Given the description of an element on the screen output the (x, y) to click on. 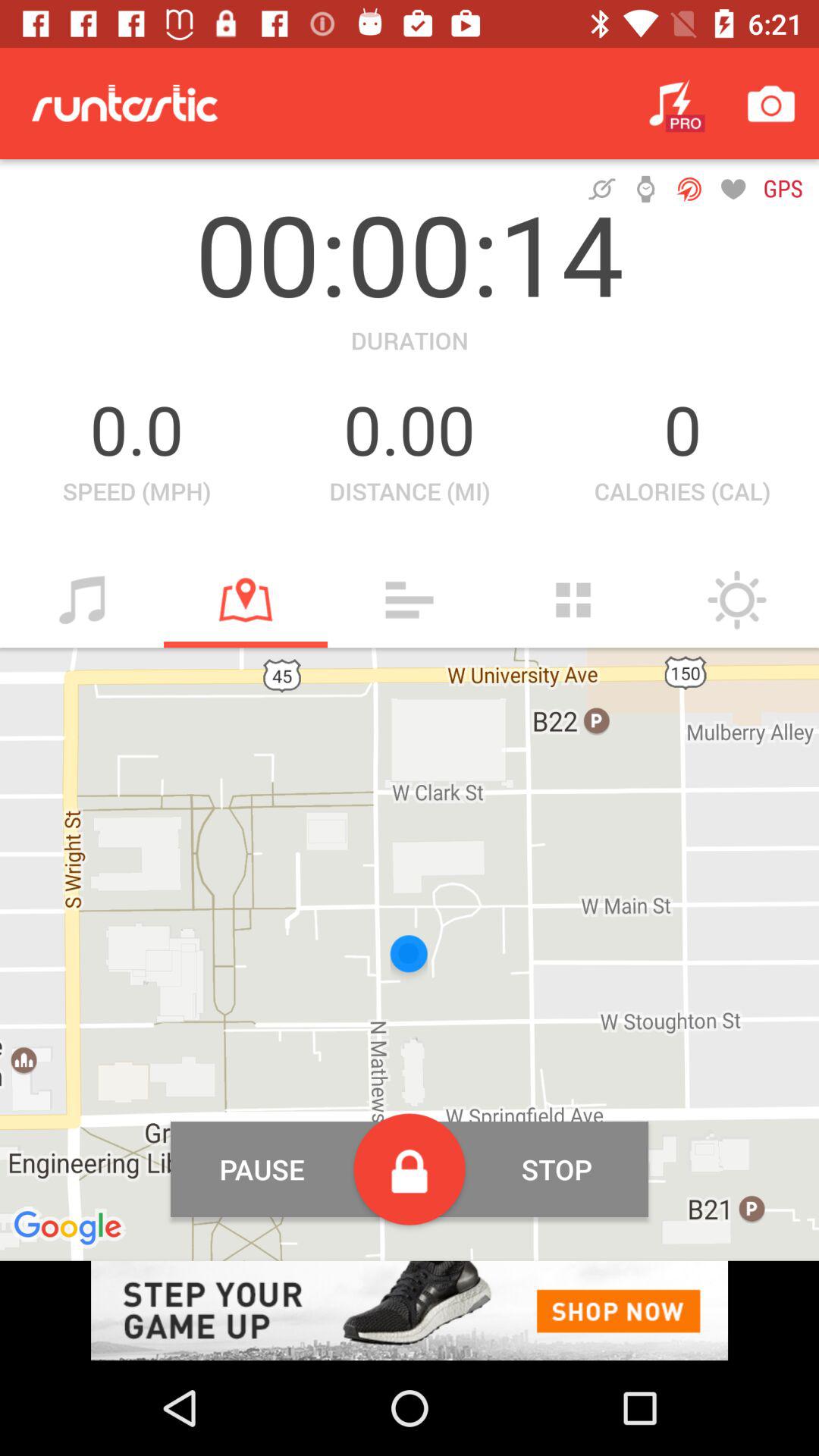
open more option (409, 599)
